Given the description of an element on the screen output the (x, y) to click on. 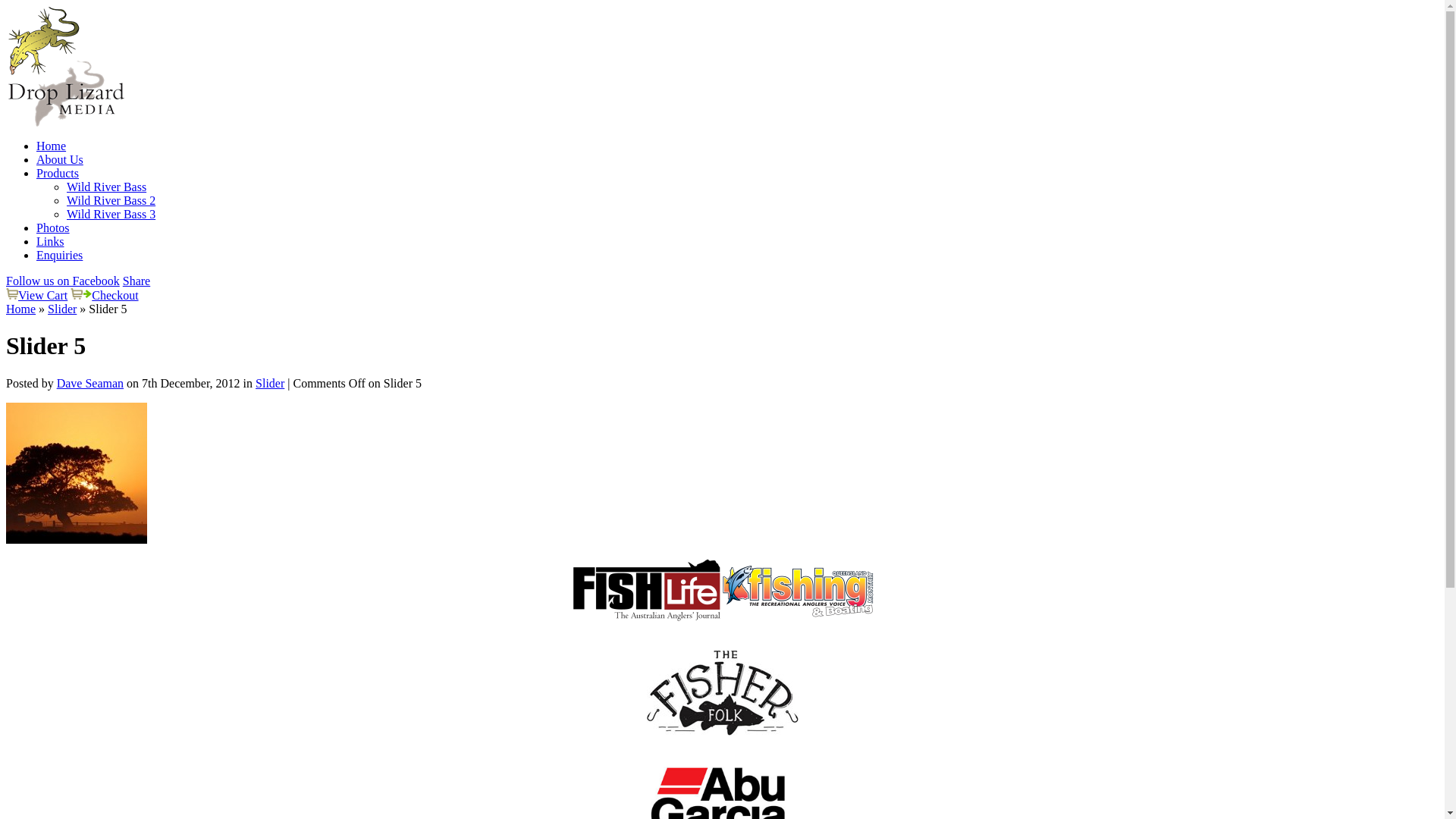
Checkout Element type: text (114, 294)
View Cart Element type: text (42, 294)
Drop Lizard Media - Wild River Bass Fishing DVDs Element type: hover (66, 66)
Wild River Bass 3 Element type: text (110, 213)
Products Element type: text (57, 172)
Wild River Bass Element type: text (106, 186)
Enquiries Element type: text (59, 254)
Links Element type: text (49, 241)
About Us Element type: text (59, 159)
Dave Seaman Element type: text (89, 382)
Follow us on Facebook Element type: text (62, 280)
Home Element type: text (50, 145)
Slider Element type: text (269, 382)
Home Element type: text (20, 308)
Wild River Bass 2 Element type: text (110, 200)
Share Element type: text (136, 280)
Slider Element type: text (61, 308)
Photos Element type: text (52, 227)
